Given the description of an element on the screen output the (x, y) to click on. 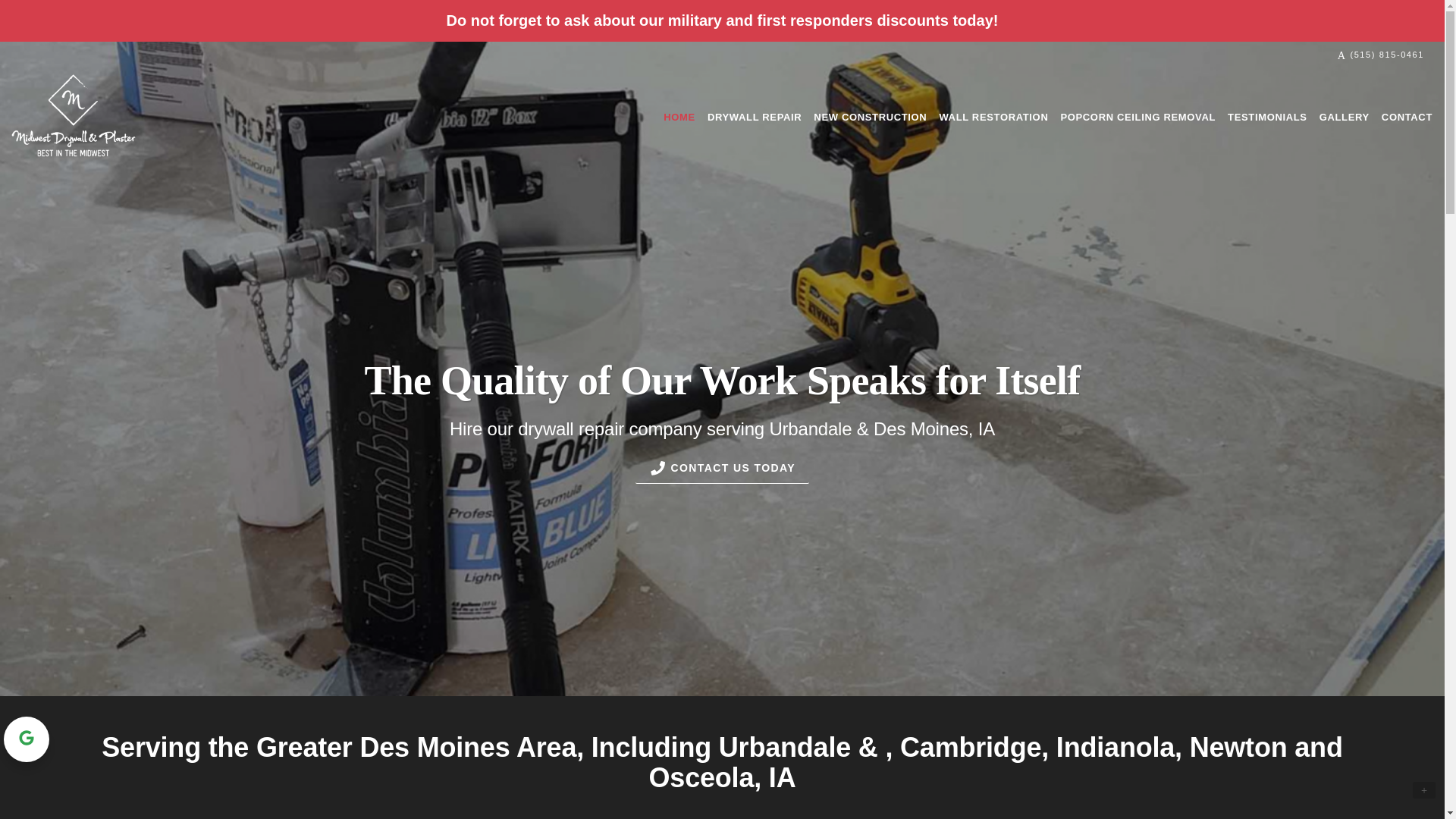
NEW CONSTRUCTION (870, 117)
POPCORN CEILING REMOVAL (1137, 117)
CONTACT (1406, 117)
WALL RESTORATION (993, 117)
DRYWALL REPAIR (754, 117)
TESTIMONIALS (1267, 117)
HOME (679, 117)
GALLERY (1344, 117)
